Given the description of an element on the screen output the (x, y) to click on. 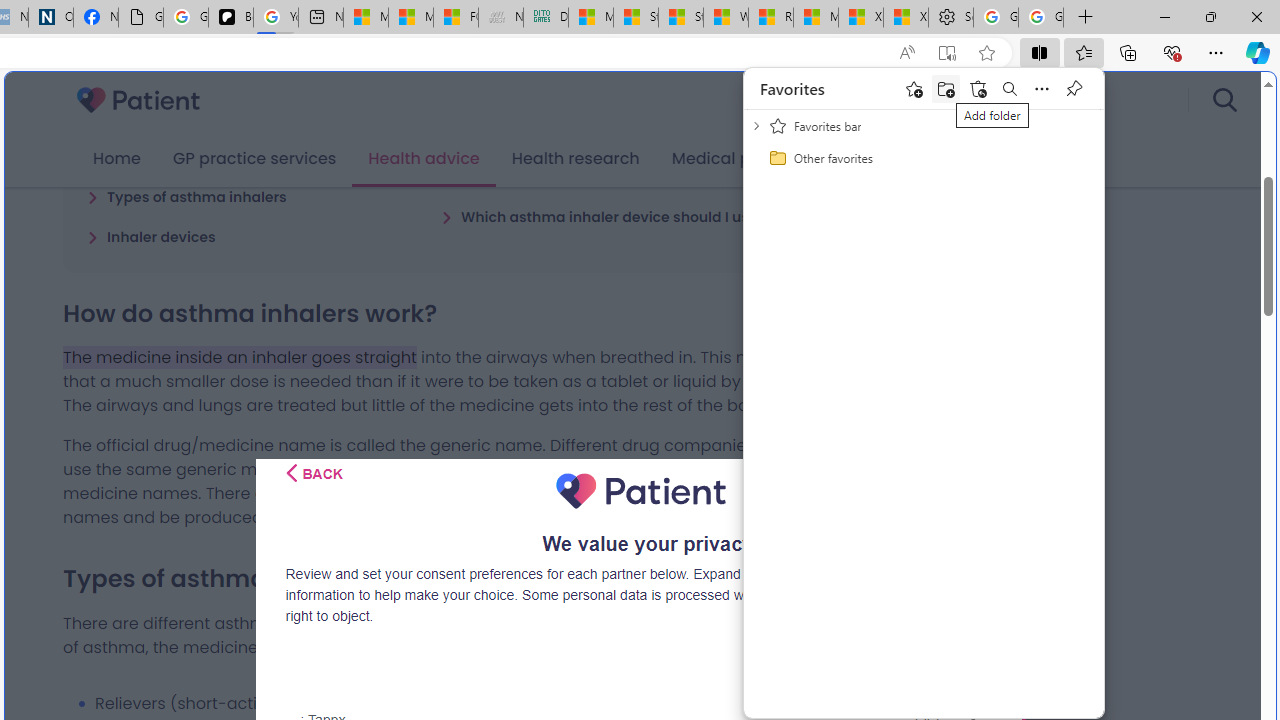
FOX News - MSN (455, 17)
R******* | Trusted Community Engagement and Contributions (770, 17)
Health research (575, 159)
GP practice services (254, 159)
Inhaler devices (151, 236)
Health advice (424, 159)
